Given the description of an element on the screen output the (x, y) to click on. 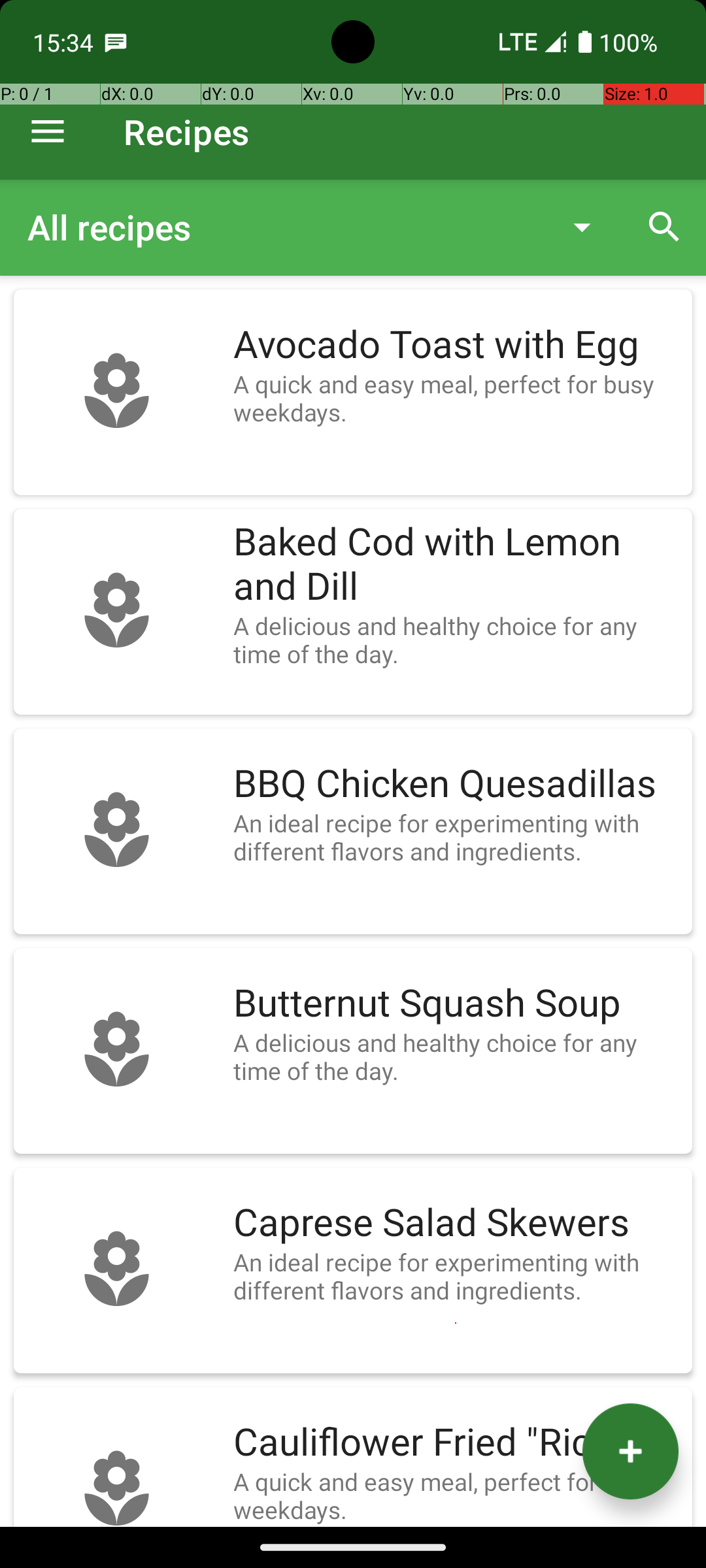
SMS Messenger notification: Isla da Silva Element type: android.widget.ImageView (115, 41)
